Given the description of an element on the screen output the (x, y) to click on. 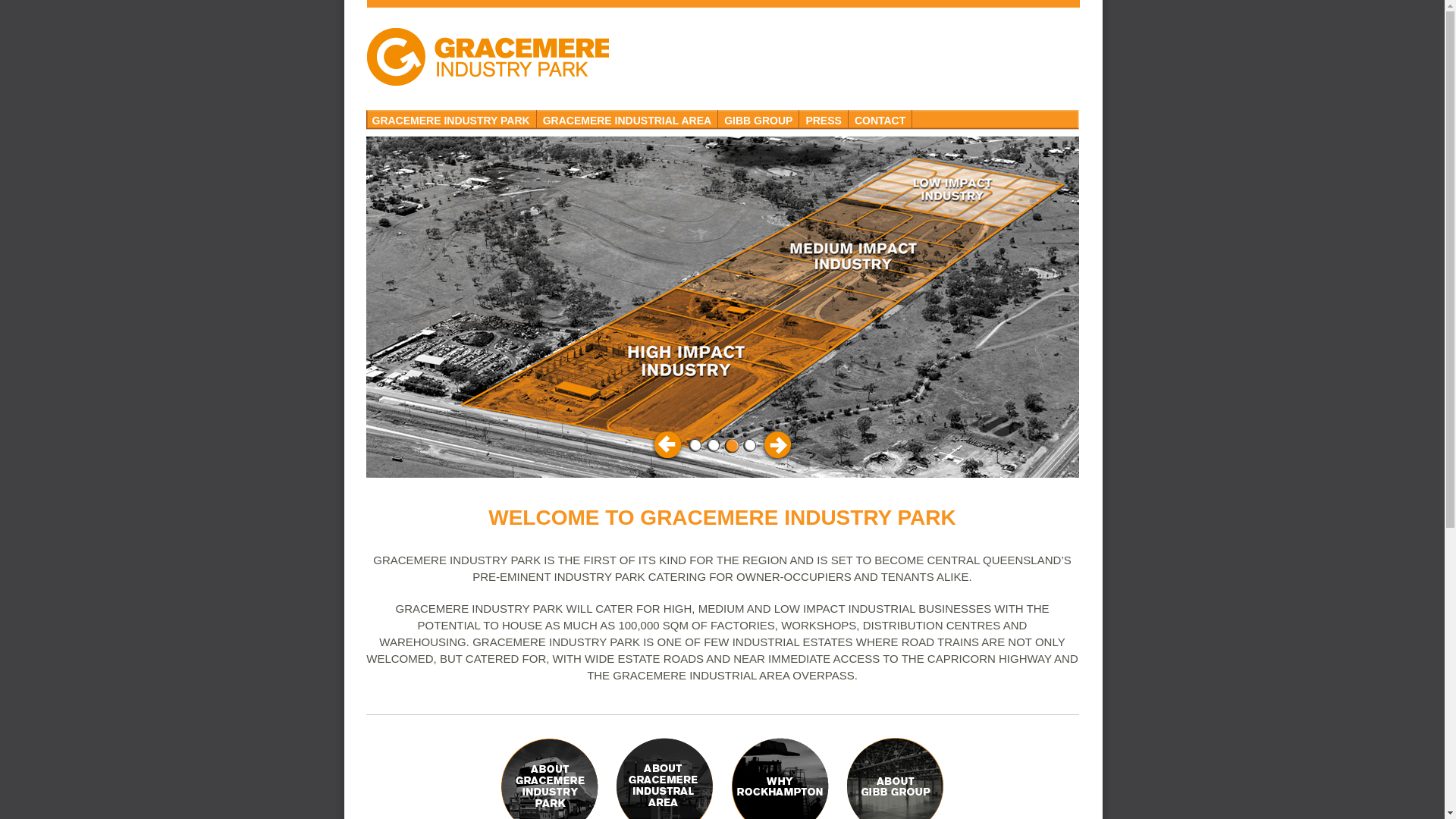
1 Element type: text (694, 445)
Next Element type: text (775, 443)
GRACEMERE INDUSTRY PARK Element type: text (450, 118)
CONTACT Element type: text (880, 118)
GRACEMERE INDUSTRIAL AREA Element type: text (627, 118)
3 Element type: text (730, 445)
4 Element type: text (749, 445)
Gracemere Industry Park Element type: text (486, 56)
Prev Element type: text (667, 443)
GIBB GROUP Element type: text (758, 118)
PRESS Element type: text (823, 118)
2 Element type: text (712, 445)
